Given the description of an element on the screen output the (x, y) to click on. 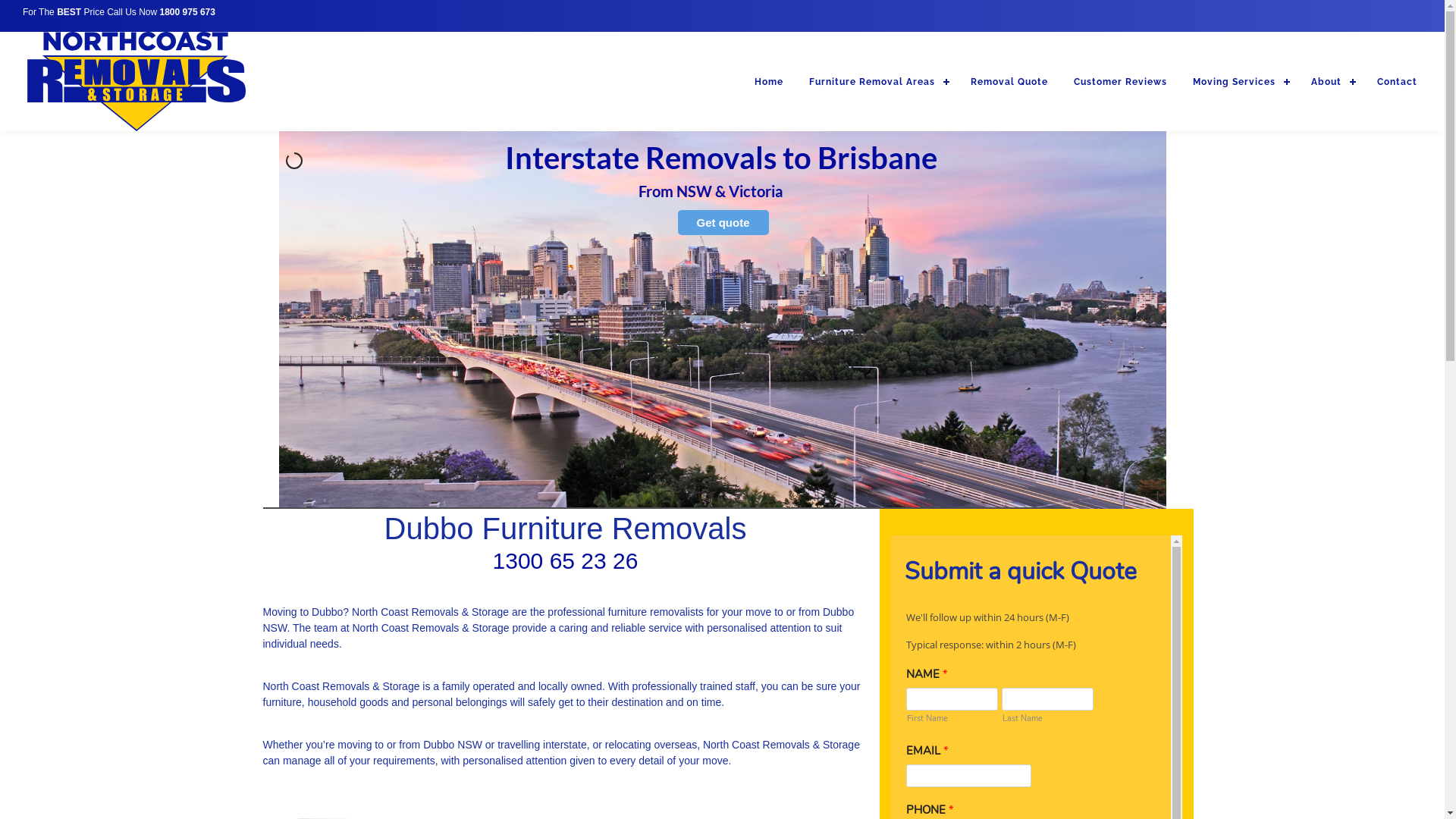
Get quote Element type: text (722, 222)
north coast removals Element type: hover (136, 81)
1800 975 673 Element type: text (187, 11)
Contact Element type: text (1397, 81)
Removal Quote Element type: text (1008, 81)
Home Element type: text (768, 81)
Moving Services Element type: text (1238, 81)
1300 65 23 26 Element type: text (565, 560)
About Element type: text (1331, 81)
Furniture Removal Areas Element type: text (876, 81)
queensland removals Element type: hover (722, 319)
Customer Reviews Element type: text (1119, 81)
